Given the description of an element on the screen output the (x, y) to click on. 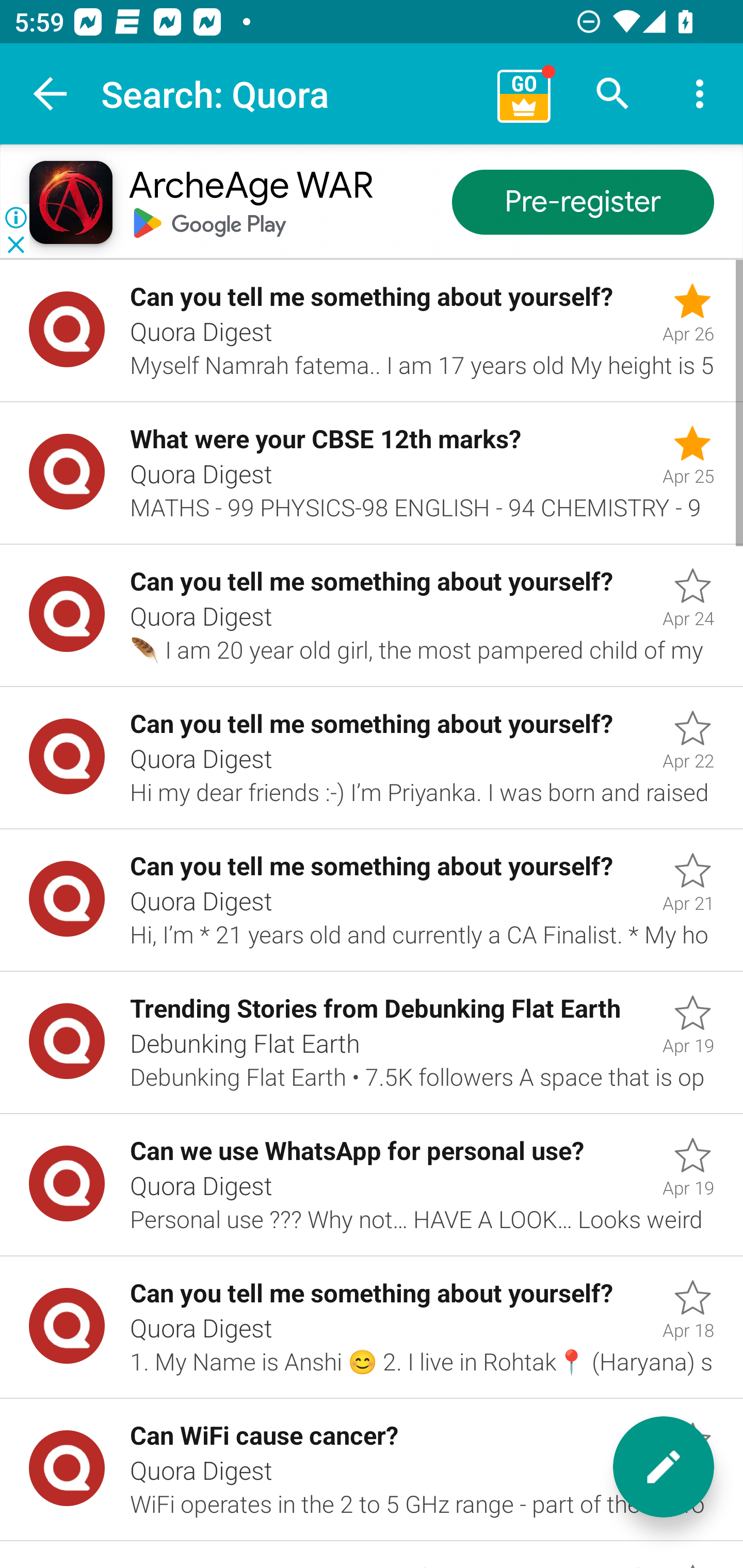
Navigate up (50, 93)
Search (612, 93)
More options (699, 93)
ArcheAge WAR (250, 186)
Pre-register (582, 202)
New message (663, 1466)
